Given the description of an element on the screen output the (x, y) to click on. 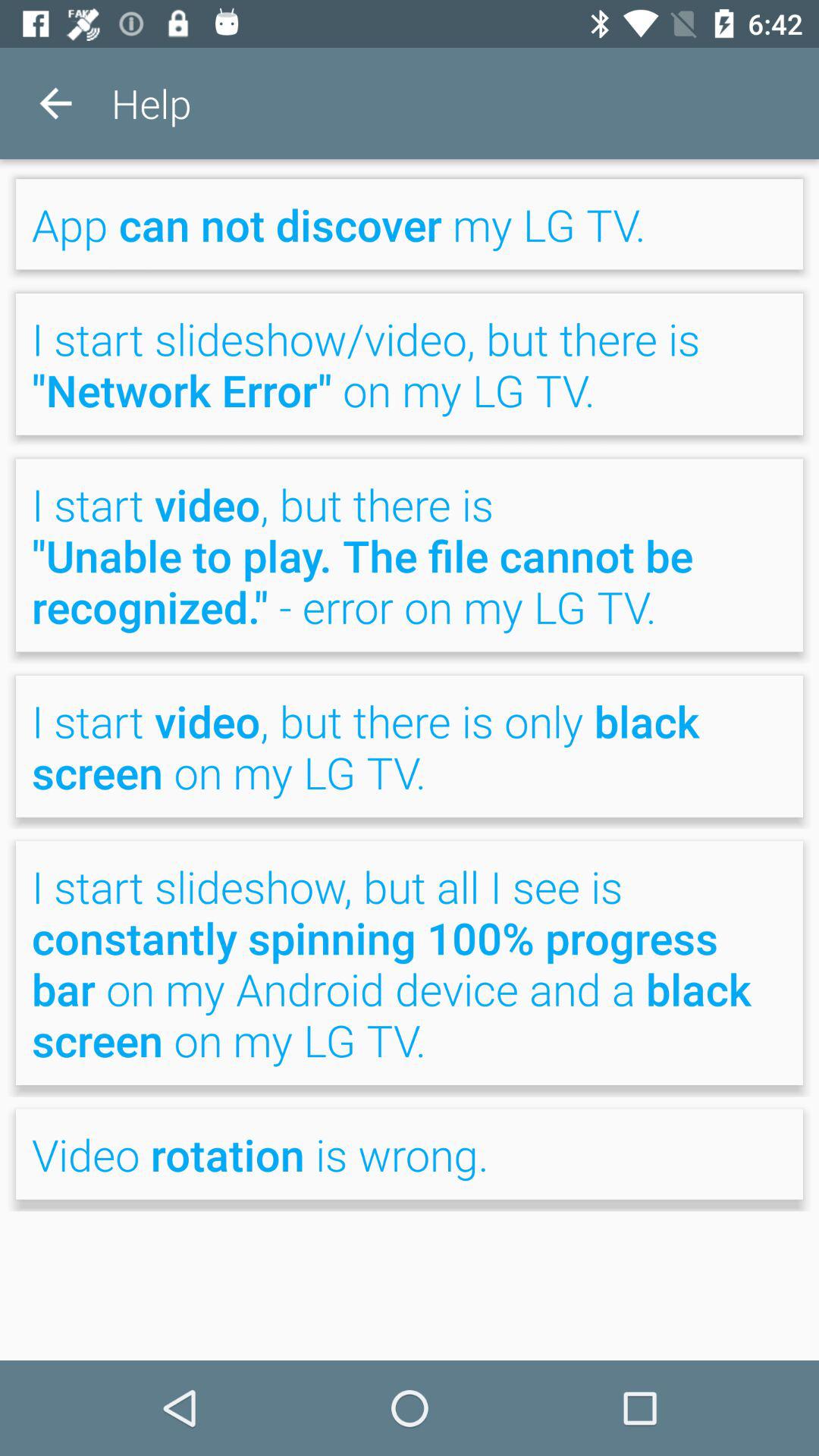
scroll until app can not icon (409, 224)
